Given the description of an element on the screen output the (x, y) to click on. 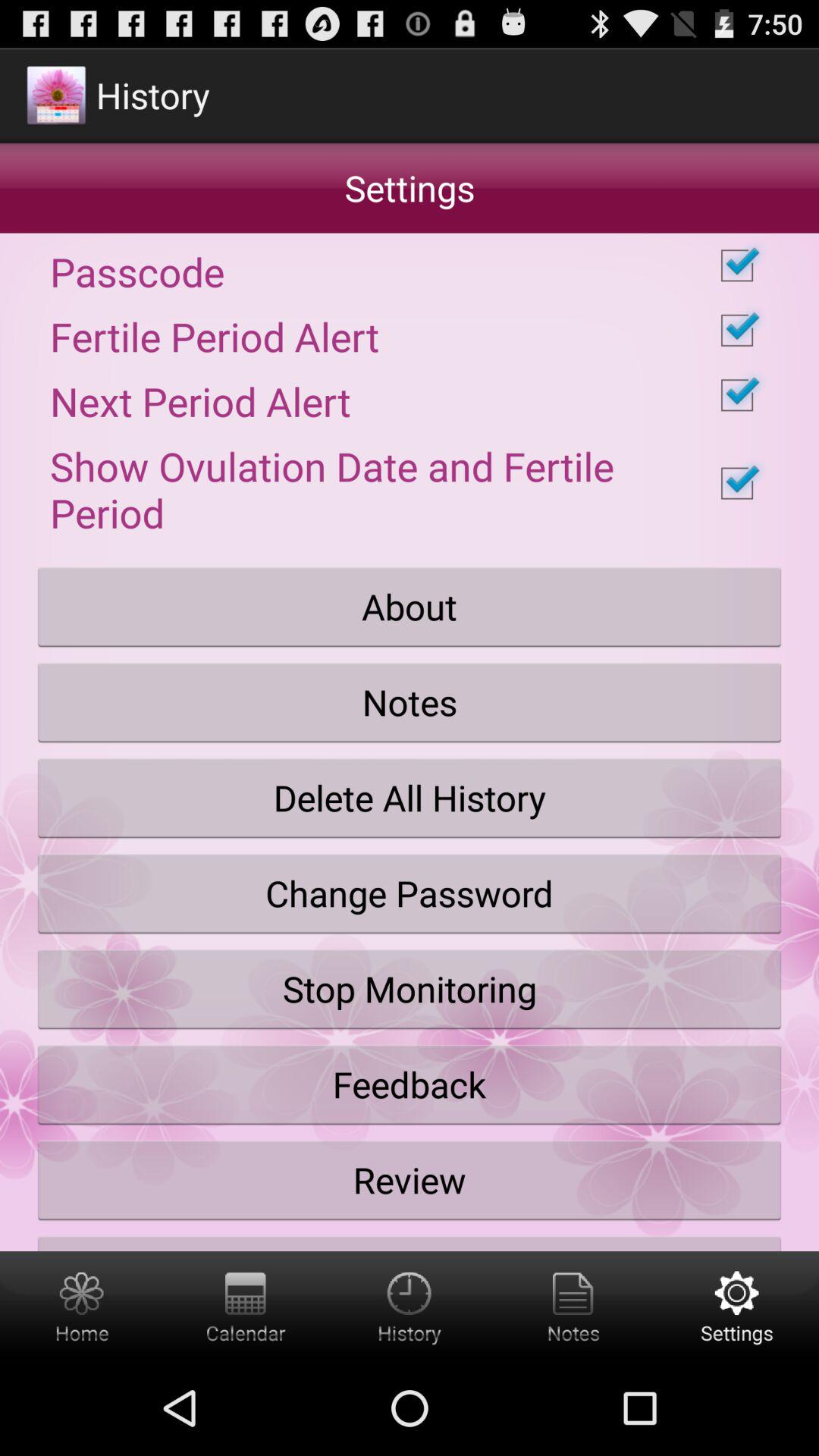
press button below the share with friends (737, 1305)
